Given the description of an element on the screen output the (x, y) to click on. 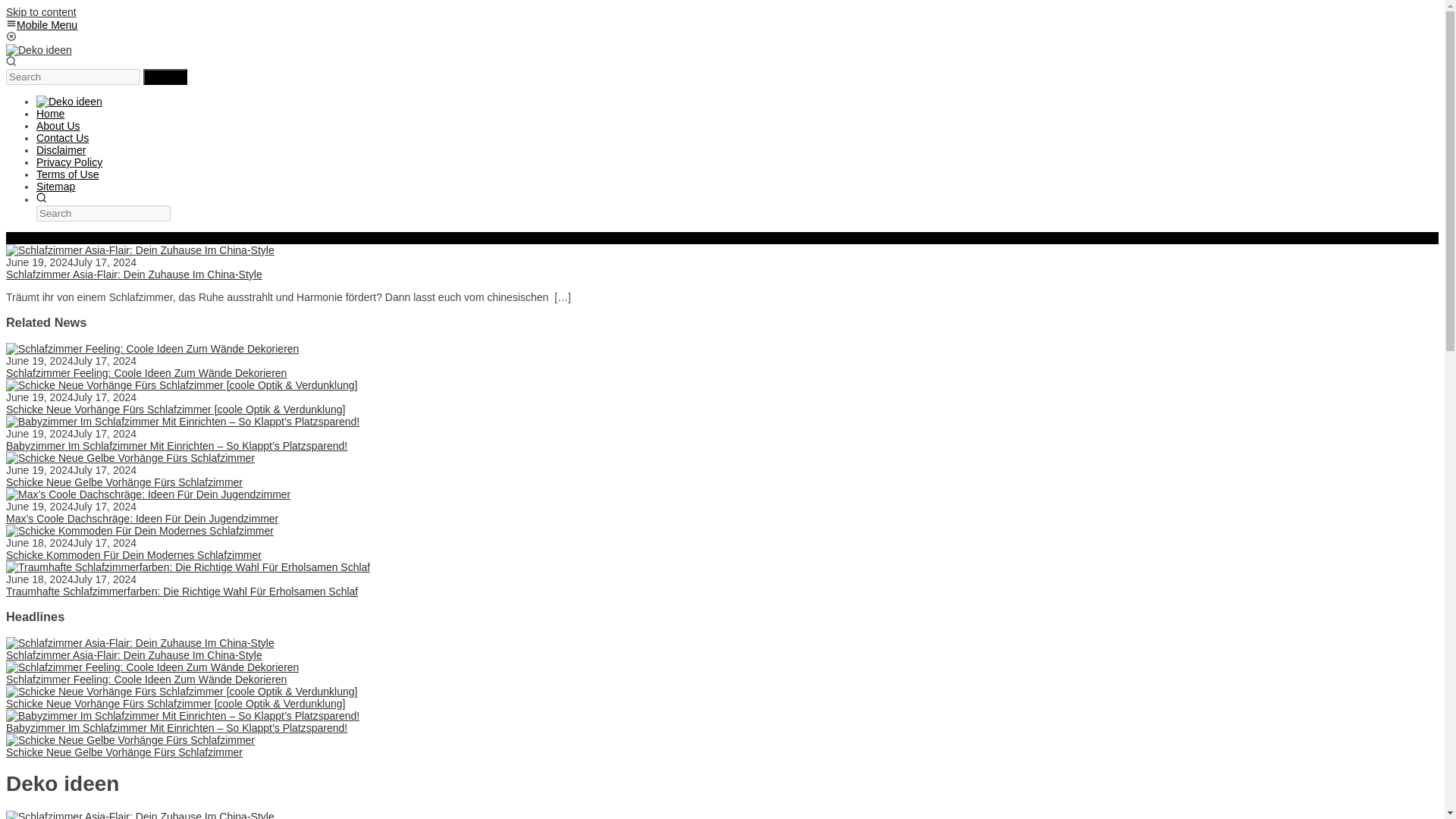
Mobile Menu (41, 24)
Search (164, 76)
Privacy Policy (68, 162)
Home (50, 113)
Schlafzimmer Asia-Flair: Dein Zuhause Im China-Style (133, 654)
Schlafzimmer Asia-Flair: Dein Zuhause Im China-Style (133, 274)
Contact Us (62, 137)
Disclaimer (60, 150)
About Us (58, 125)
Skip to content (41, 11)
Schlafzimmer Asia-Flair: Dein Zuhause Im China-Style (140, 250)
Deko ideen (38, 50)
Deko ideen (68, 101)
Mobile Menu (41, 24)
Terms of Use (67, 174)
